Given the description of an element on the screen output the (x, y) to click on. 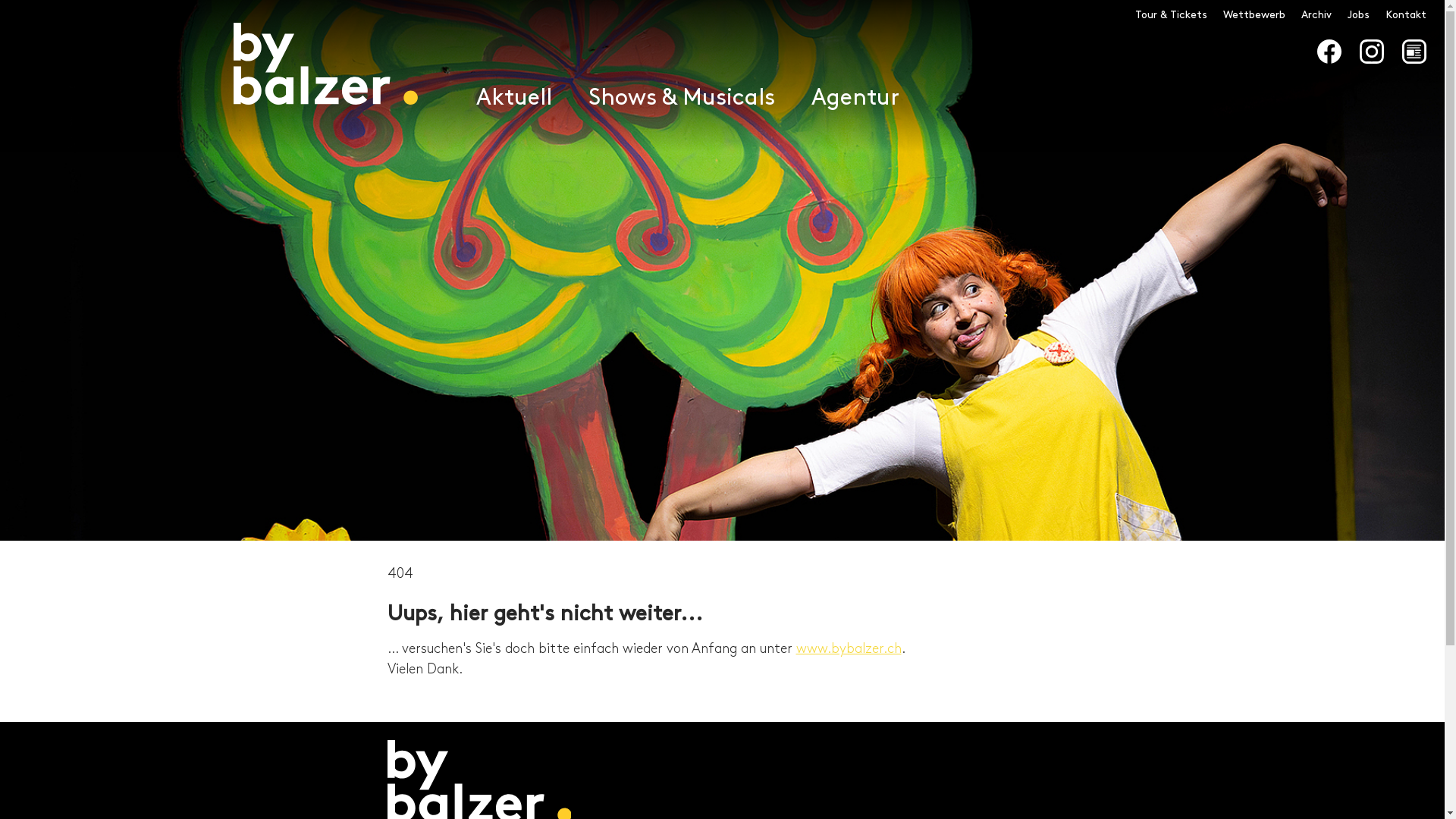
Wettbewerb Element type: text (1254, 15)
Jobs Element type: text (1358, 15)
Agentur Element type: text (855, 98)
Archiv Element type: text (1316, 15)
Tour & Tickets Element type: text (1171, 15)
Kontakt Element type: text (1405, 15)
Shows & Musicals Element type: text (681, 98)
www.bybalzer.ch Element type: text (848, 648)
Aktuell Element type: text (514, 98)
